Given the description of an element on the screen output the (x, y) to click on. 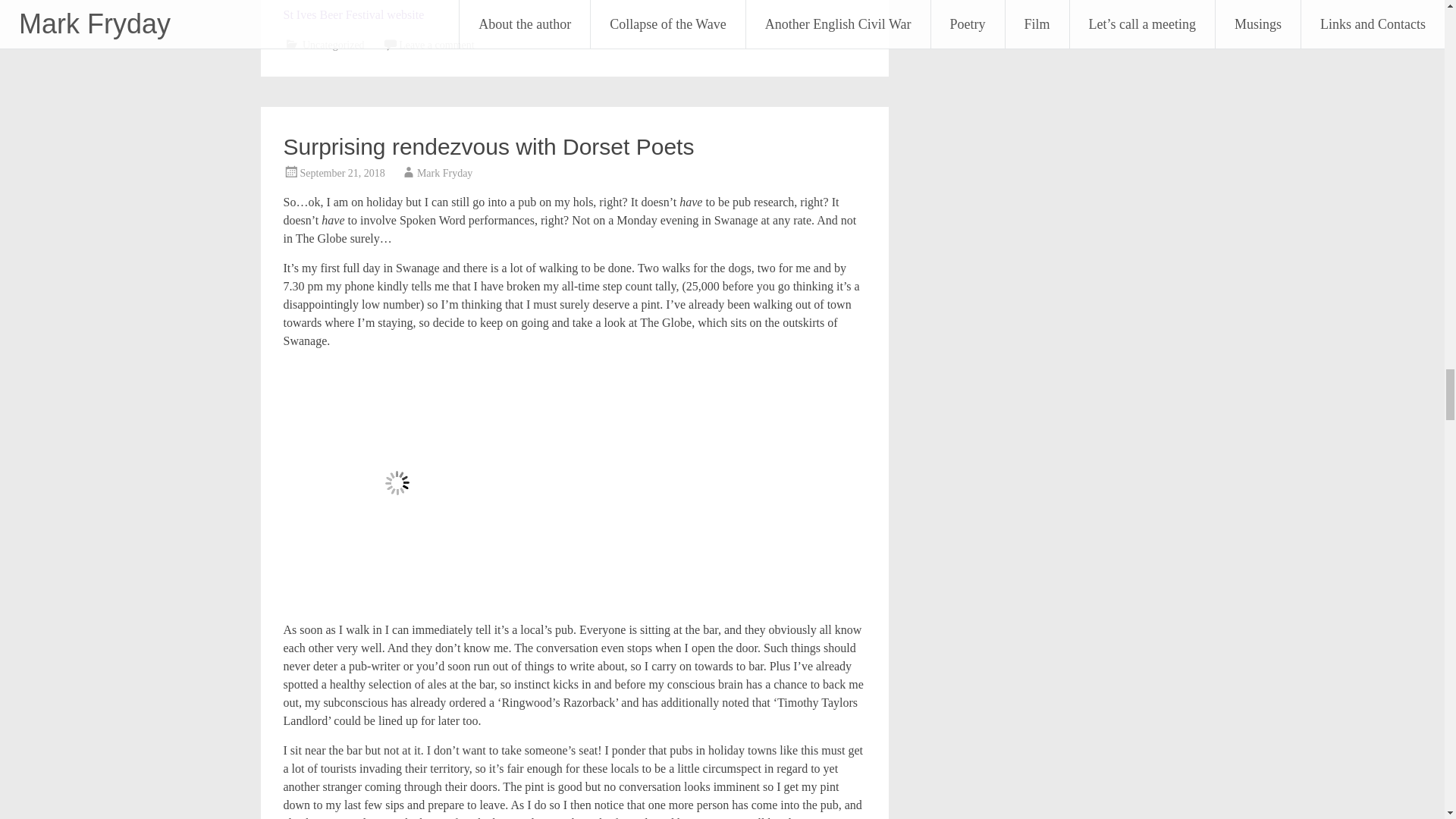
Leave a comment (436, 44)
Uncategorized (333, 44)
St Ives Beer Festival website (354, 14)
